Given the description of an element on the screen output the (x, y) to click on. 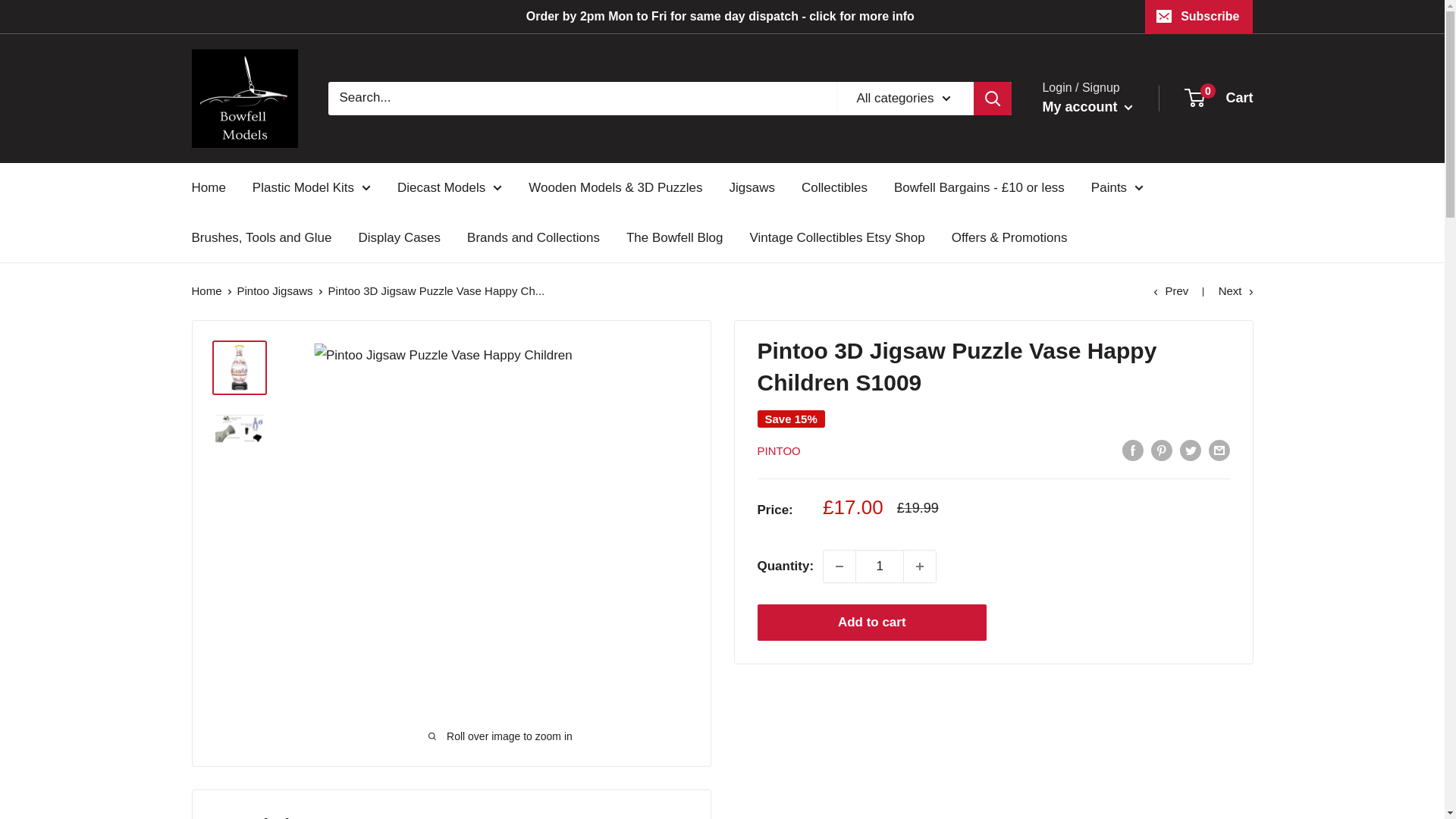
1 (880, 566)
Subscribe (1198, 16)
Increase quantity by 1 (920, 566)
Decrease quantity by 1 (840, 566)
